Given the description of an element on the screen output the (x, y) to click on. 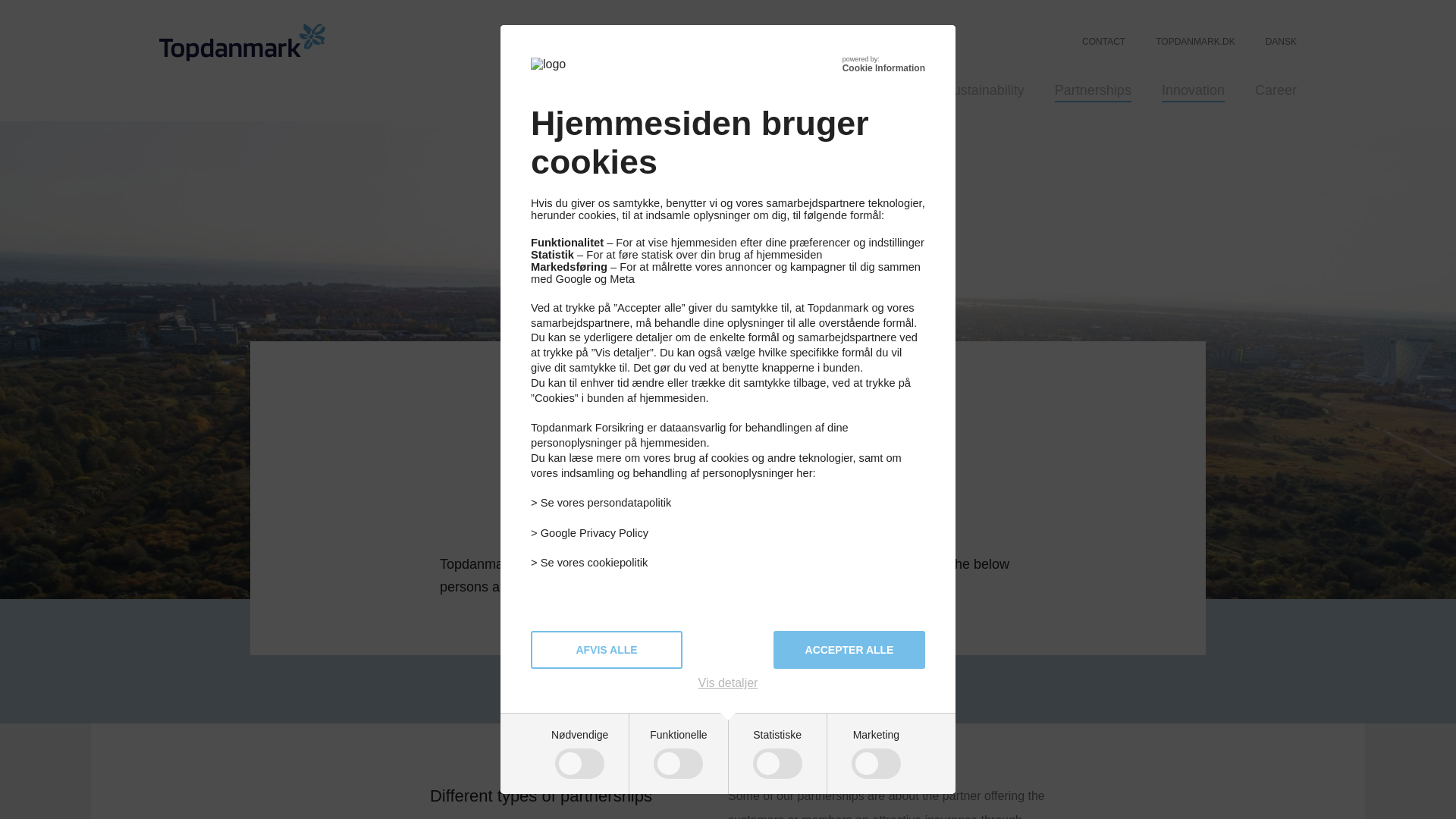
ACCEPTER ALLE (848, 649)
Cookie Information (883, 68)
Vis detaljer (728, 683)
AFVIS ALLE (606, 649)
